Given the description of an element on the screen output the (x, y) to click on. 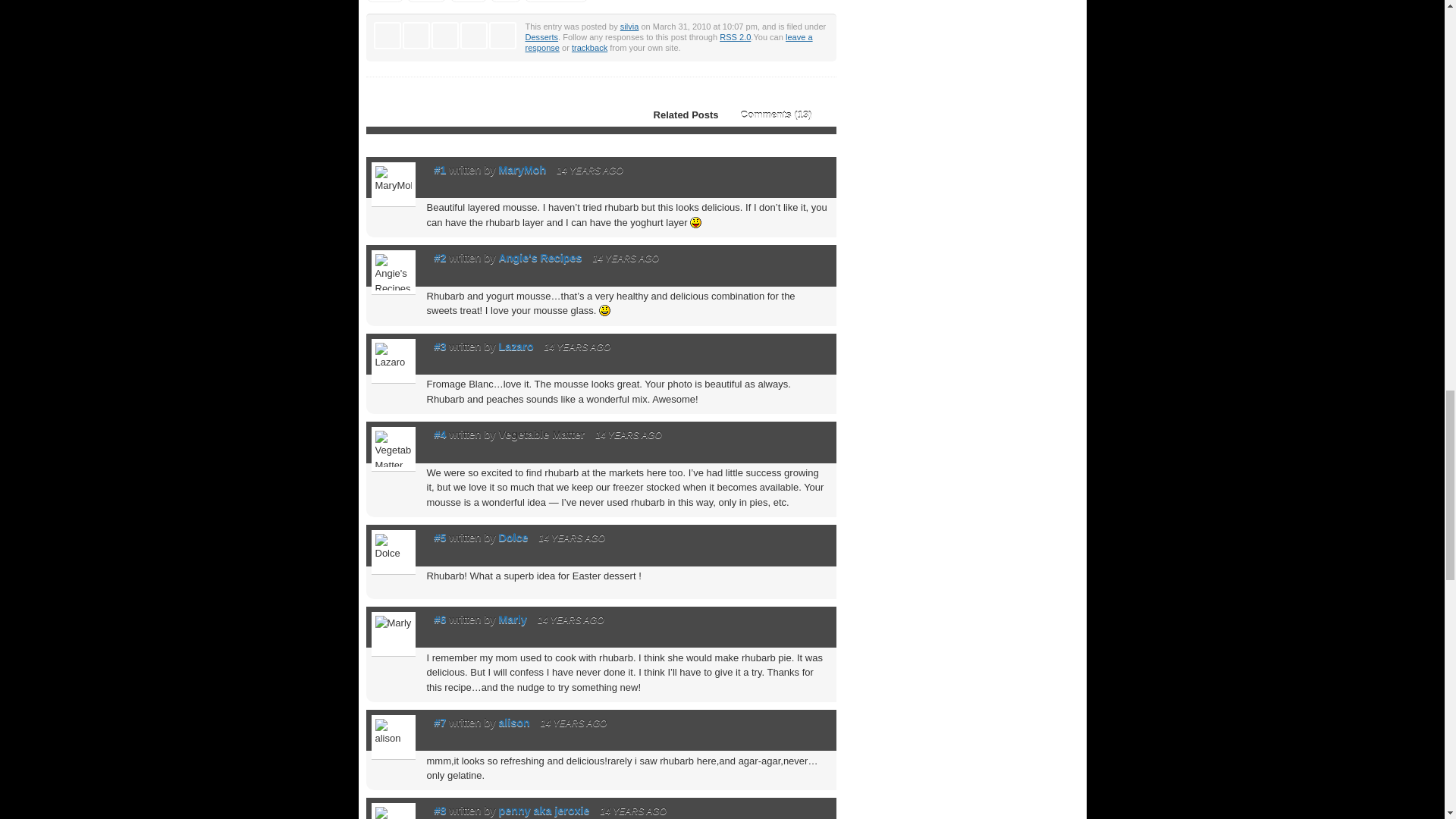
Share this post on Delicious (472, 35)
Share this post on StumbleUpon (501, 35)
Related Posts (677, 114)
silvia (629, 26)
Share this post on Twitter (386, 35)
RSS 2.0 (735, 36)
Angie's Recipes (540, 257)
Share this post on Digg (415, 35)
trackback (589, 47)
peaches (426, 1)
